Given the description of an element on the screen output the (x, y) to click on. 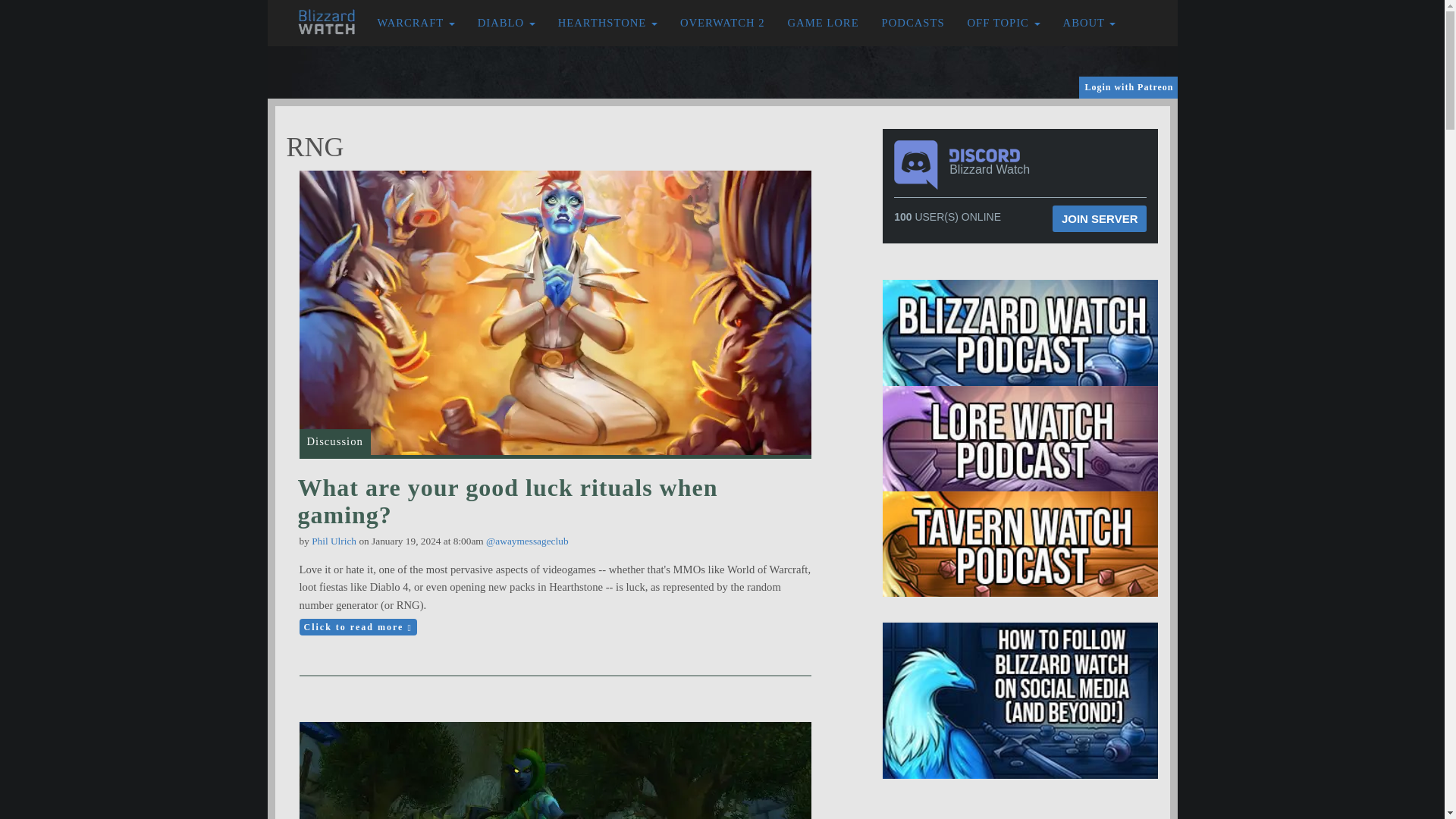
Warcraft (415, 22)
GAME LORE (823, 22)
Diablo (506, 22)
Podcasts (913, 22)
Off Topic (1003, 22)
PODCASTS (913, 22)
DIABLO (506, 22)
Game Lore (823, 22)
Hearthstone (607, 22)
Phil Ulrich (333, 541)
HEARTHSTONE (607, 22)
OFF TOPIC (1003, 22)
What are your good luck rituals when gaming? (507, 501)
Login with Patreon (1128, 86)
WARCRAFT (415, 22)
